Given the description of an element on the screen output the (x, y) to click on. 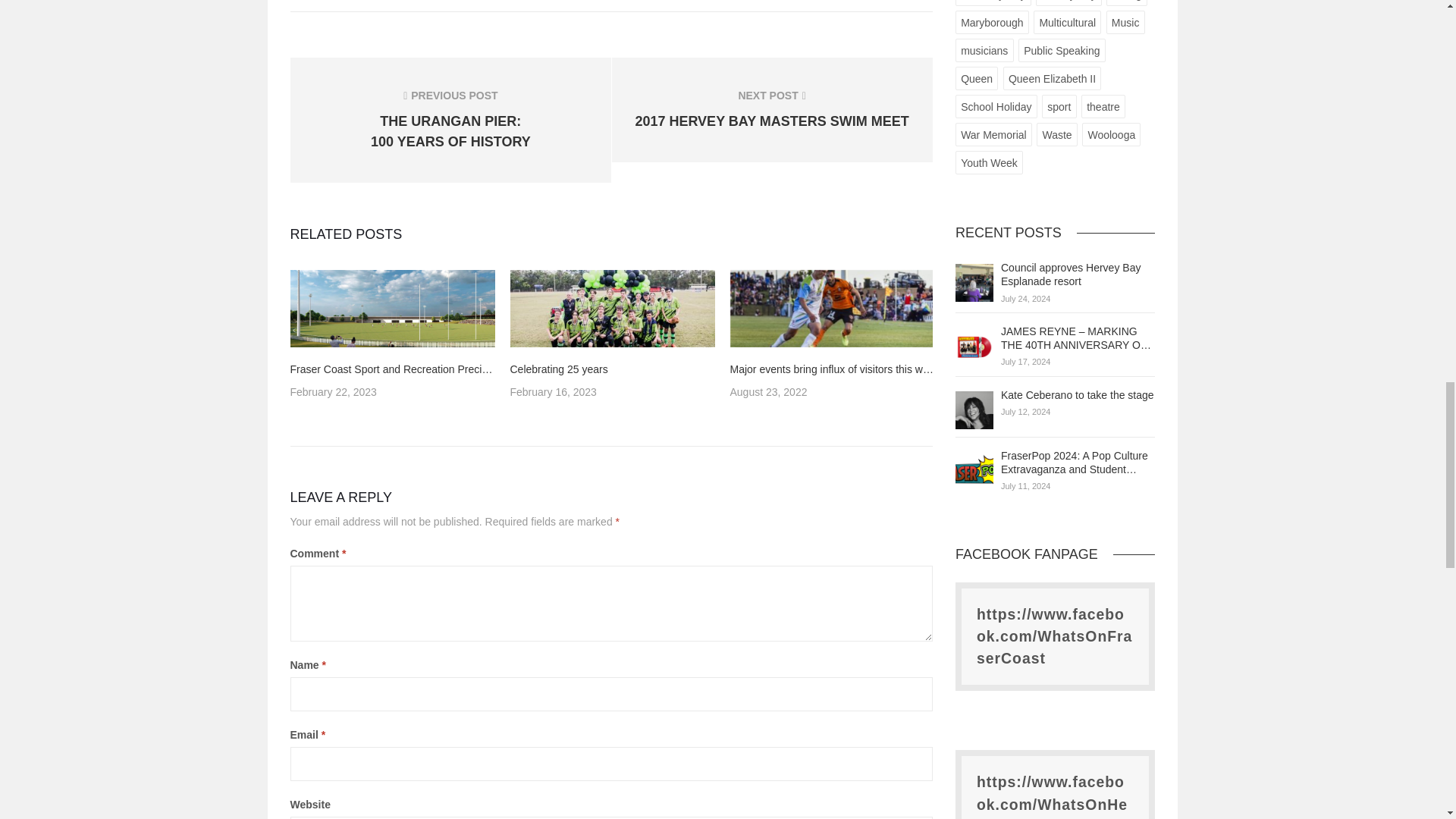
Council approves Hervey Bay Esplanade resort (1070, 274)
Picture2 (611, 308)
Council approves Hervey Bay Esplanade resort (973, 282)
Artist-impression-of-premier-fields (392, 308)
Roar v Wide Bay LORES 11 (831, 308)
Kate Ceberano to take the stage (973, 410)
